Given the description of an element on the screen output the (x, y) to click on. 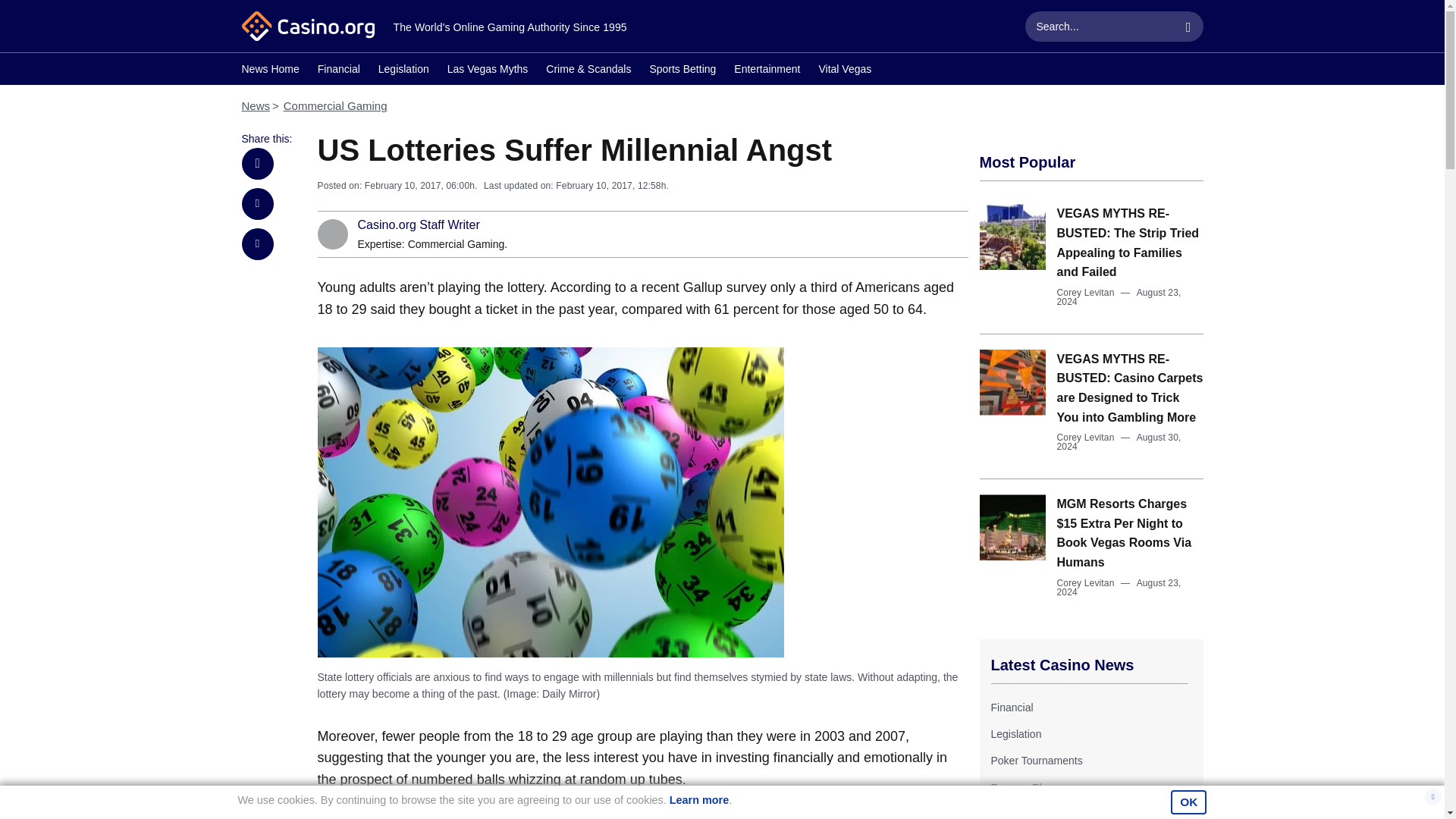
Commercial Gaming (335, 105)
Financial (1011, 707)
Famous Players (1028, 787)
Sports (1005, 813)
Legislation (403, 70)
Las Vegas Myths (487, 70)
News Home (269, 70)
Corey Levitan (1086, 437)
Famous Players (1028, 787)
